Given the description of an element on the screen output the (x, y) to click on. 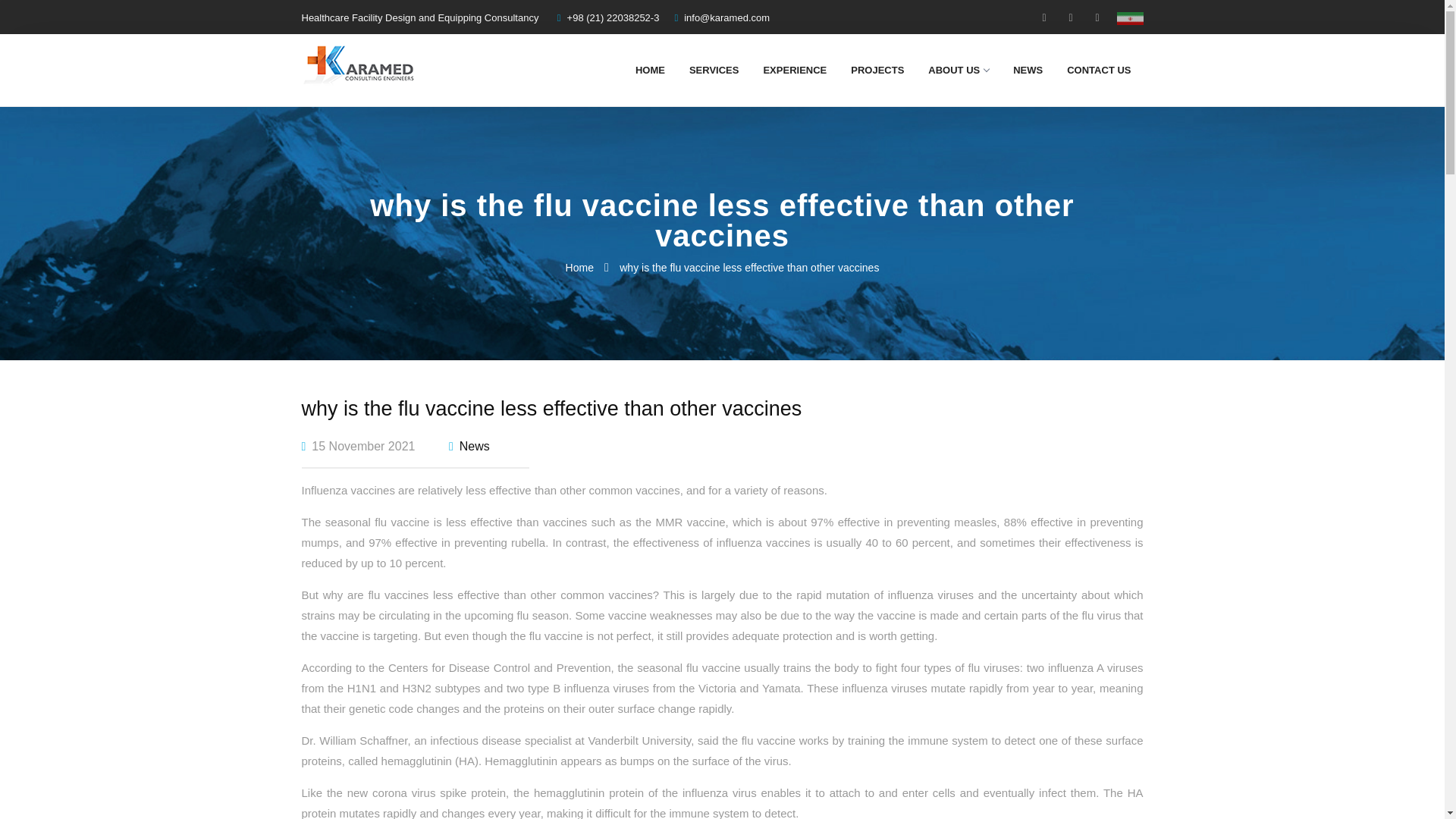
News (474, 445)
EXPERIENCE (794, 70)
PROJECTS (876, 70)
Home (580, 267)
ABOUT US (958, 70)
CONTACT US (1098, 70)
why is the flu vaccine less effective than other vaccines (749, 267)
SERVICES (714, 70)
